Given the description of an element on the screen output the (x, y) to click on. 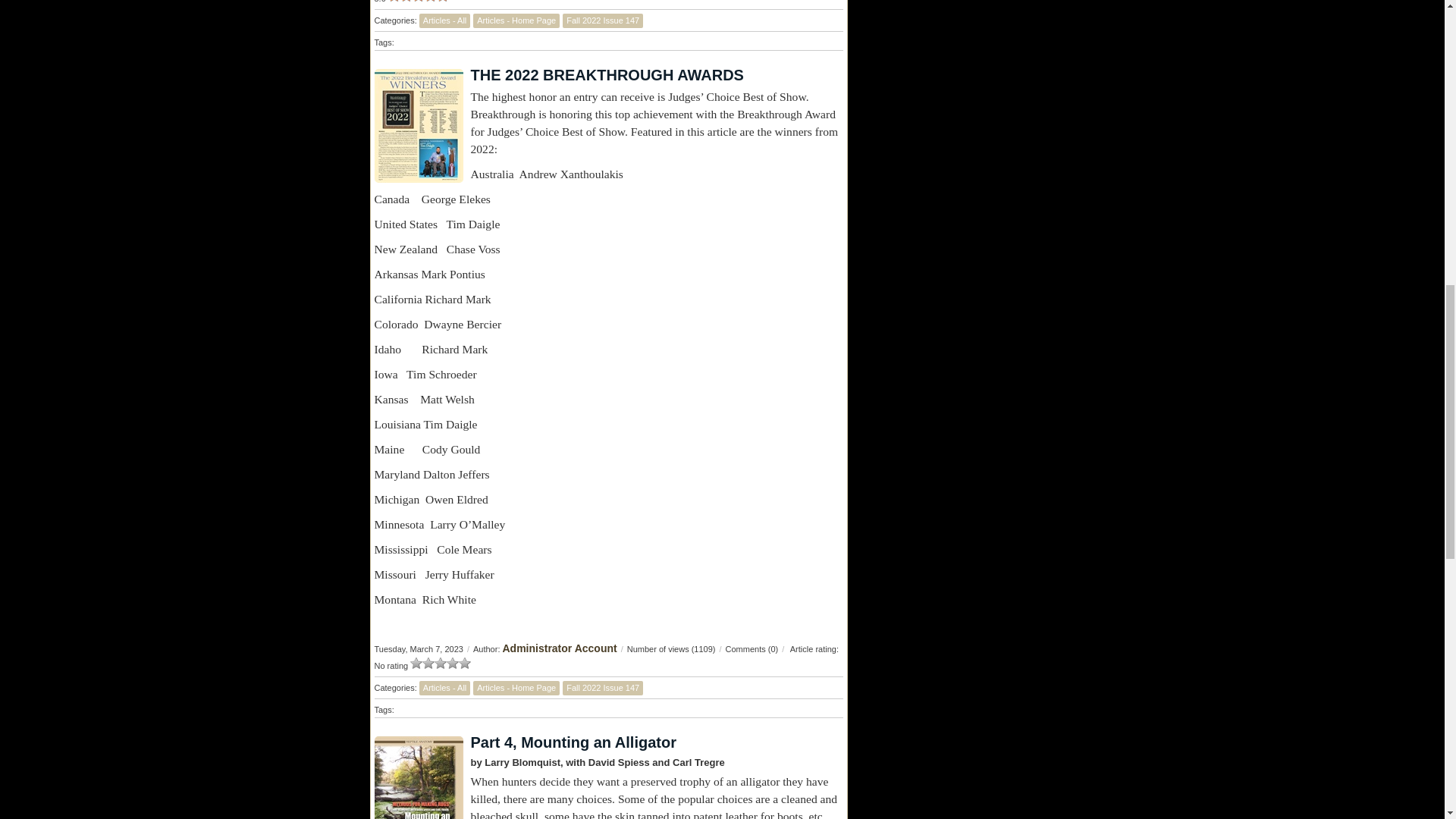
Articles - All (444, 20)
